Given the description of an element on the screen output the (x, y) to click on. 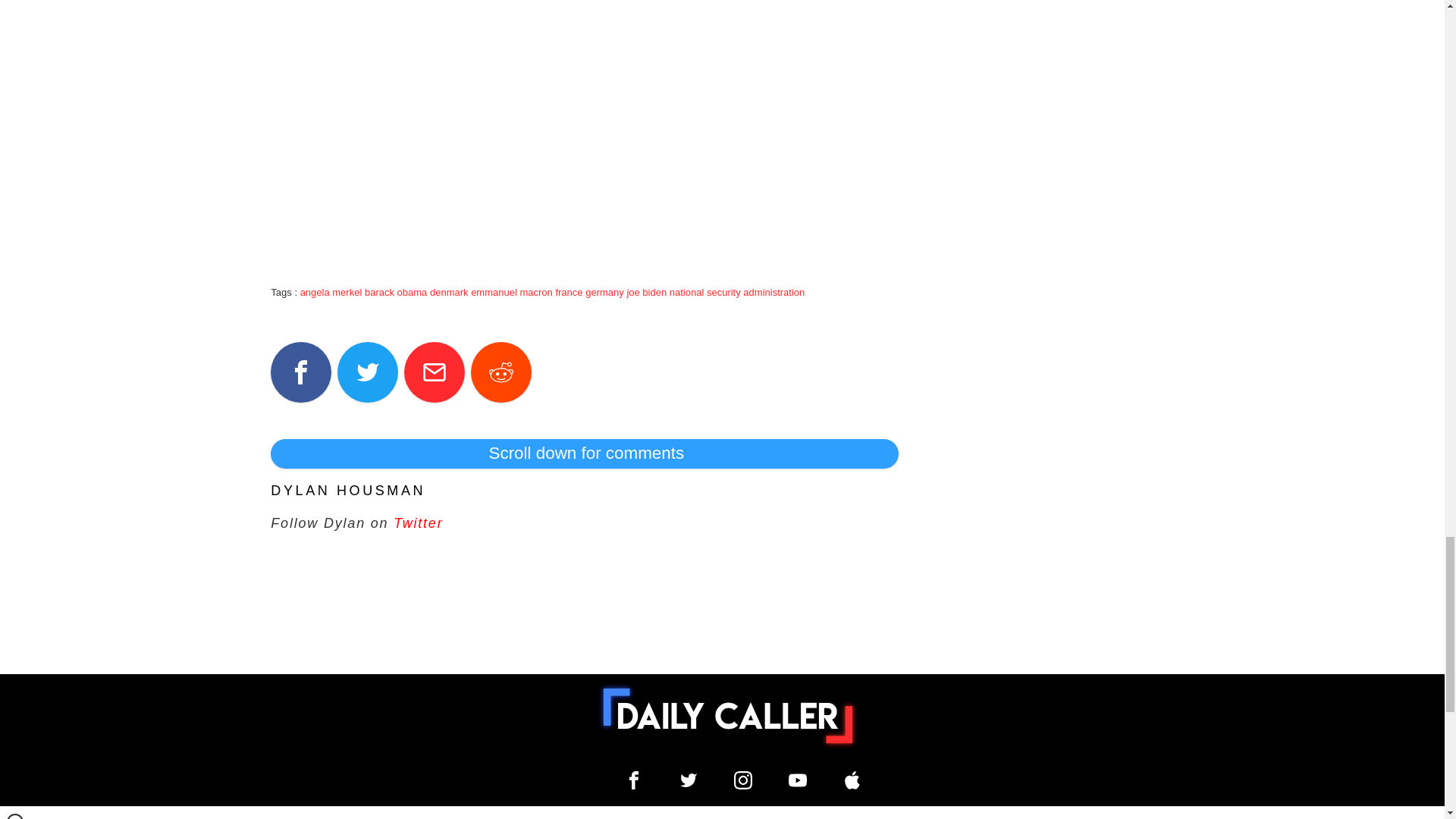
Daily Caller YouTube (797, 780)
Scroll down for comments (584, 452)
Daily Caller Instagram (742, 780)
Daily Caller Facebook (633, 780)
To home page (727, 715)
Daily Caller YouTube (852, 780)
Daily Caller Twitter (688, 780)
